Given the description of an element on the screen output the (x, y) to click on. 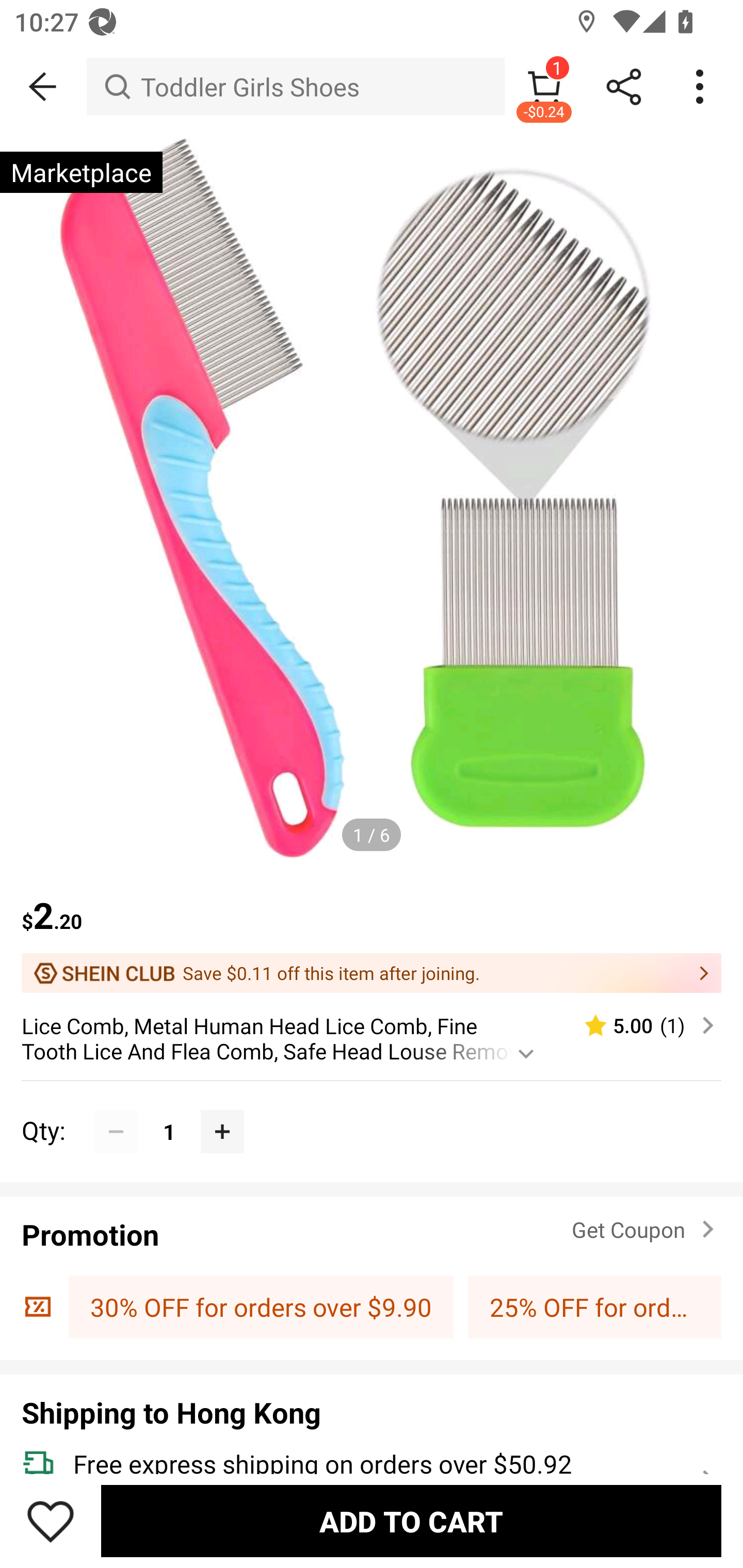
BACK (43, 86)
1 -$0.24 (543, 87)
Toddler Girls Shoes (295, 87)
PHOTOS Marketplace 1 / 6 (371, 501)
1 / 6 (371, 834)
$2.20 Save $0.11 off this item after joining. (371, 932)
Save $0.11 off this item after joining. (371, 972)
5.00 (1) (640, 1025)
Qty: 1 (371, 1110)
ADD TO CART (411, 1520)
Save (50, 1520)
